Given the description of an element on the screen output the (x, y) to click on. 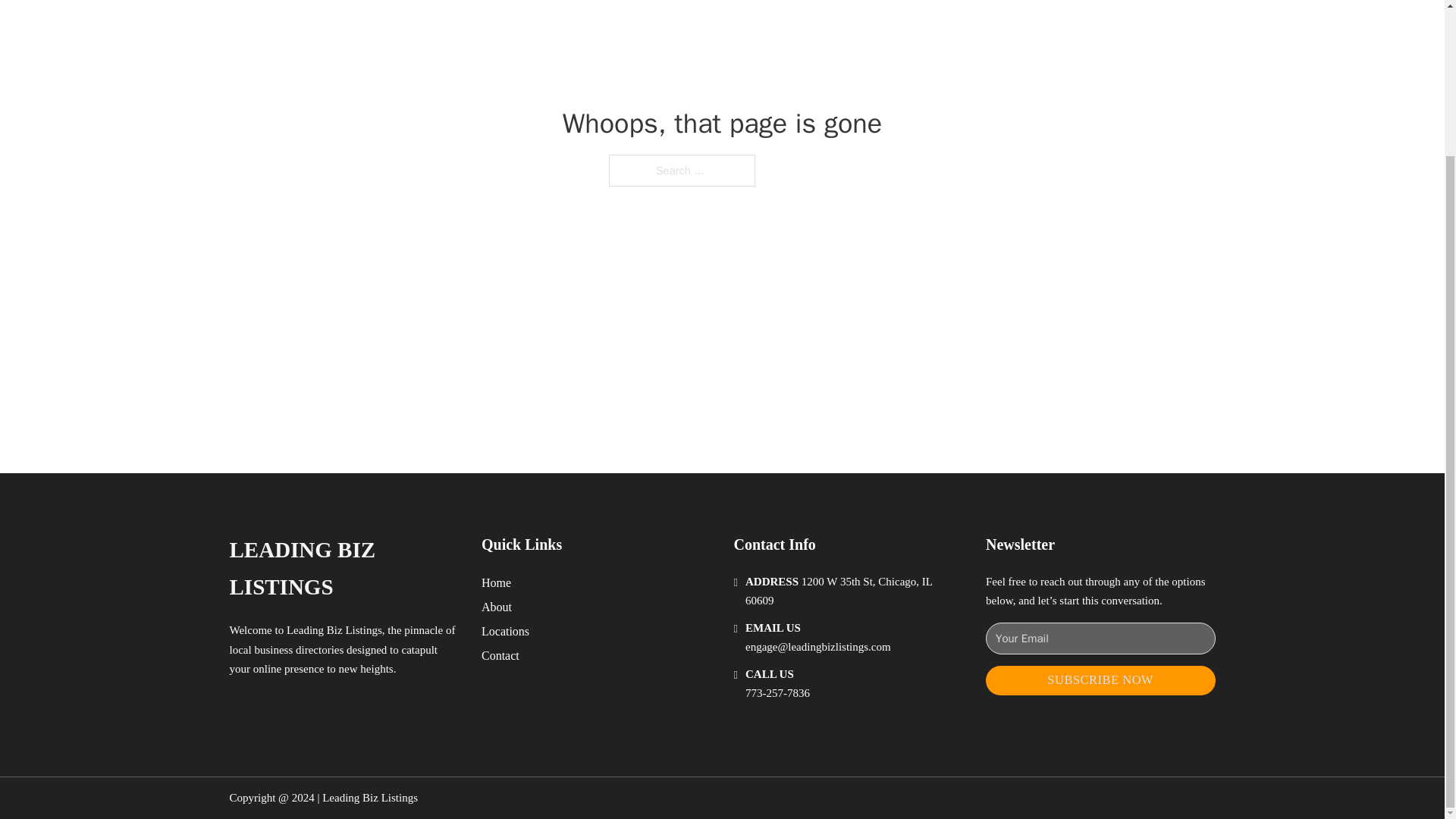
773-257-7836 (777, 693)
SUBSCRIBE NOW (1100, 680)
Contact (500, 655)
LEADING BIZ LISTINGS (343, 568)
Locations (505, 630)
Home (496, 582)
About (496, 607)
